Given the description of an element on the screen output the (x, y) to click on. 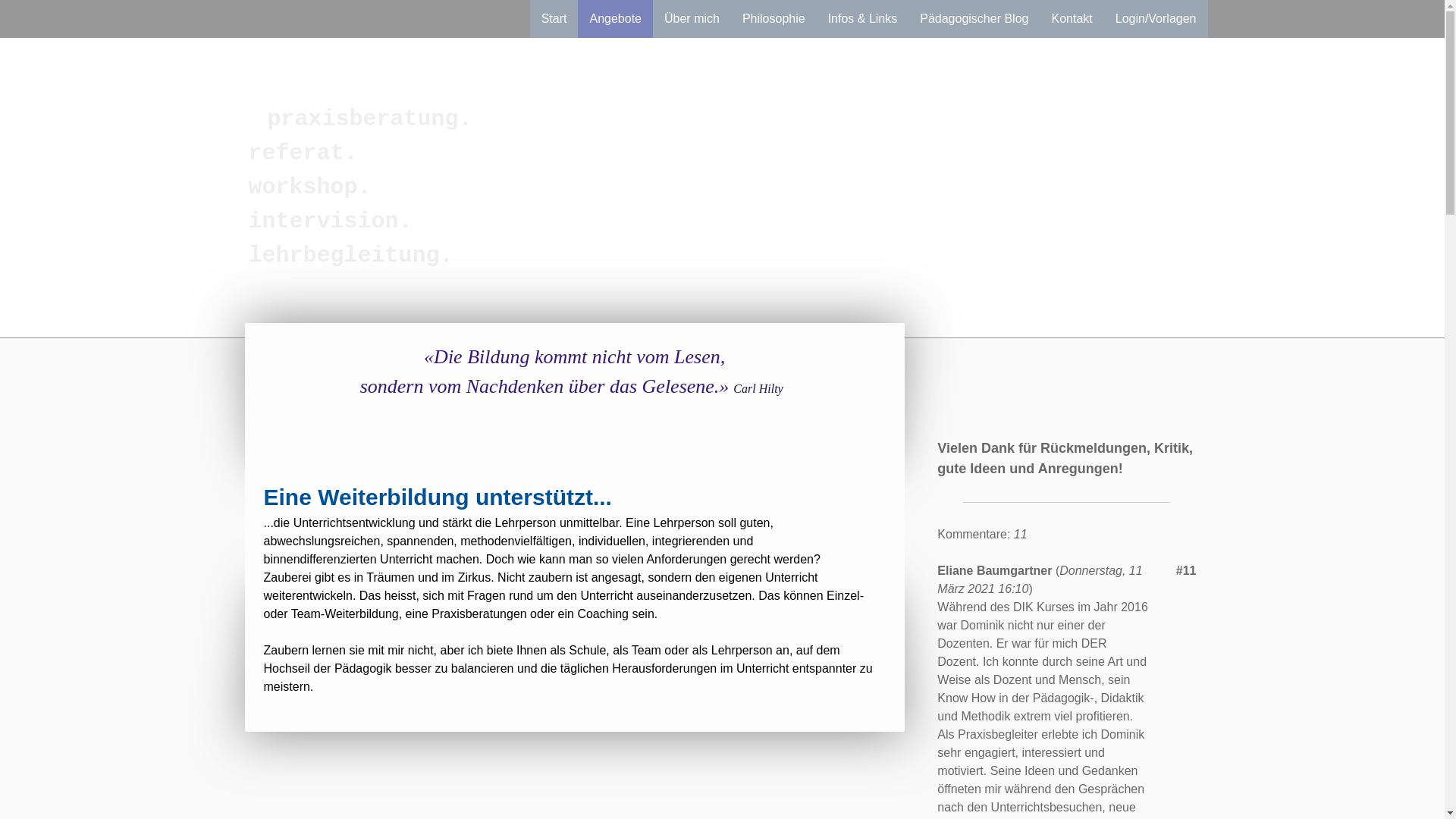
Kontakt Element type: text (1071, 18)
Philosophie Element type: text (773, 18)
Start Element type: text (554, 18)
Login/Vorlagen Element type: text (1156, 18)
Infos & Links Element type: text (862, 18)
Angebote Element type: text (614, 18)
